Given the description of an element on the screen output the (x, y) to click on. 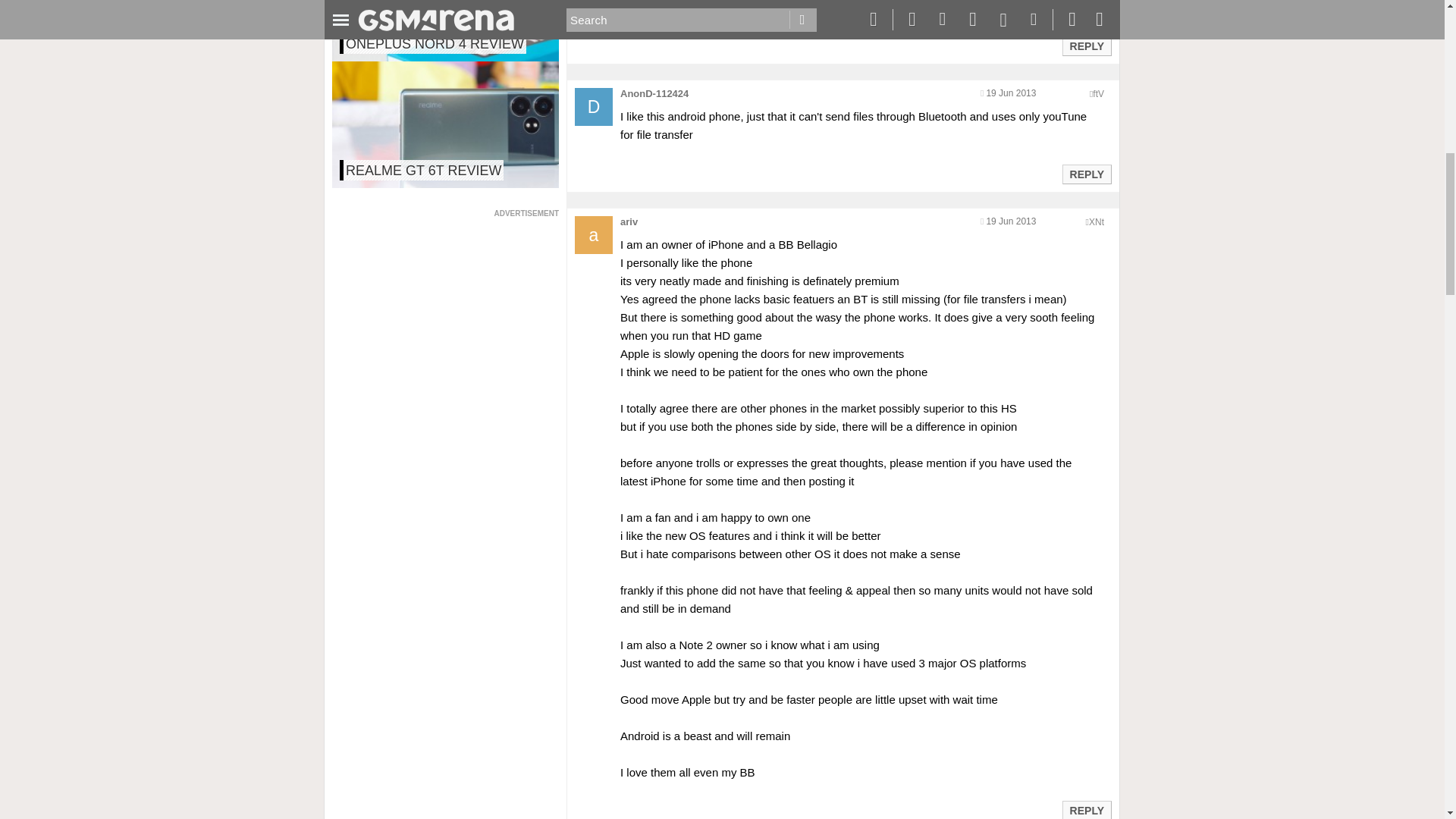
Reply to this post (1086, 810)
Encoded anonymized location (1098, 93)
Reply to this post (1086, 46)
Encoded anonymized location (1096, 222)
Reply to this post (1086, 174)
